Given the description of an element on the screen output the (x, y) to click on. 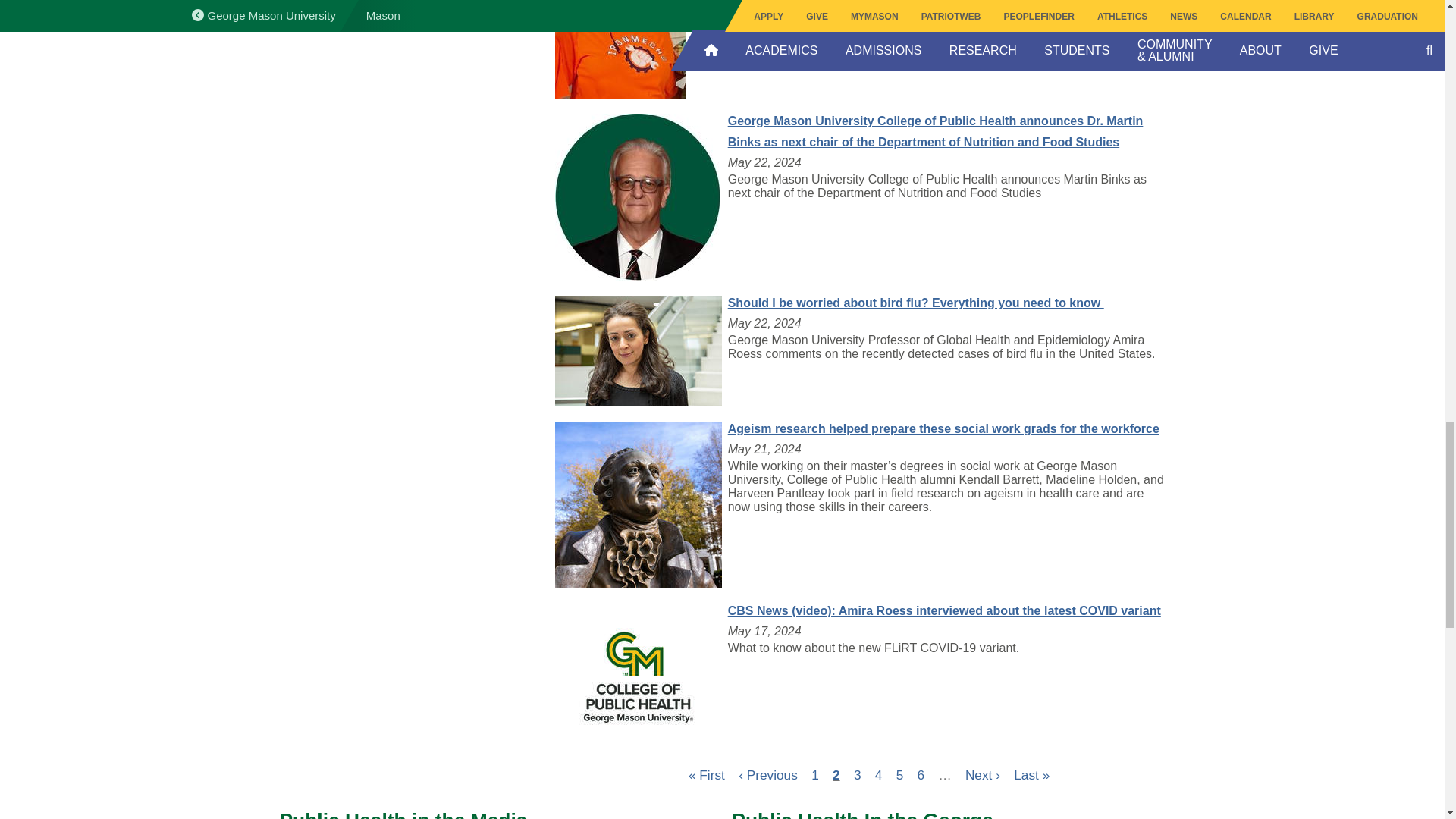
Go to previous page (767, 774)
Go to first page (706, 774)
Go to last page (1031, 774)
Go to next page (982, 774)
